Given the description of an element on the screen output the (x, y) to click on. 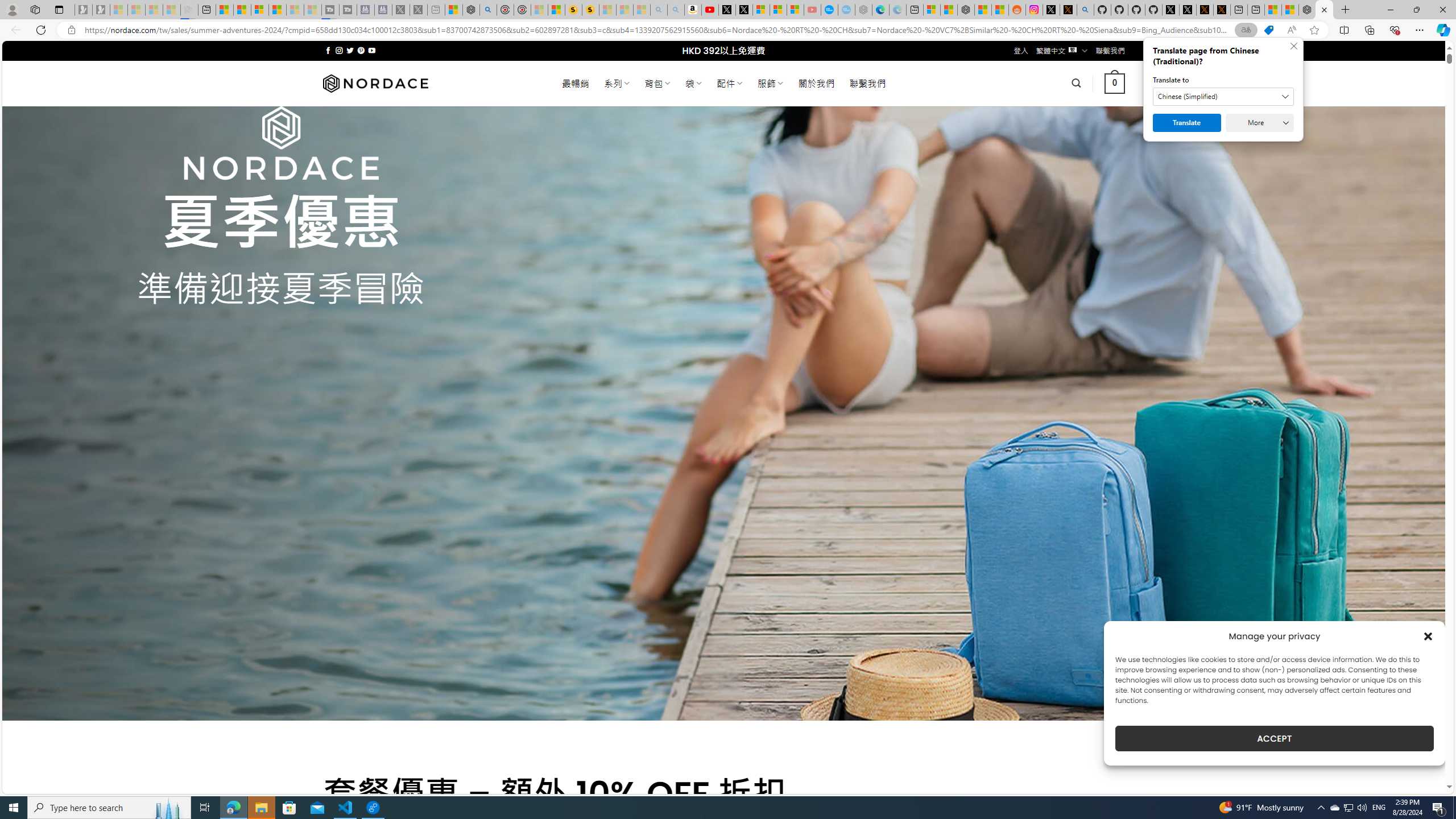
Log in to X / X (1051, 9)
Newsletter Sign Up - Sleeping (101, 9)
